Given the description of an element on the screen output the (x, y) to click on. 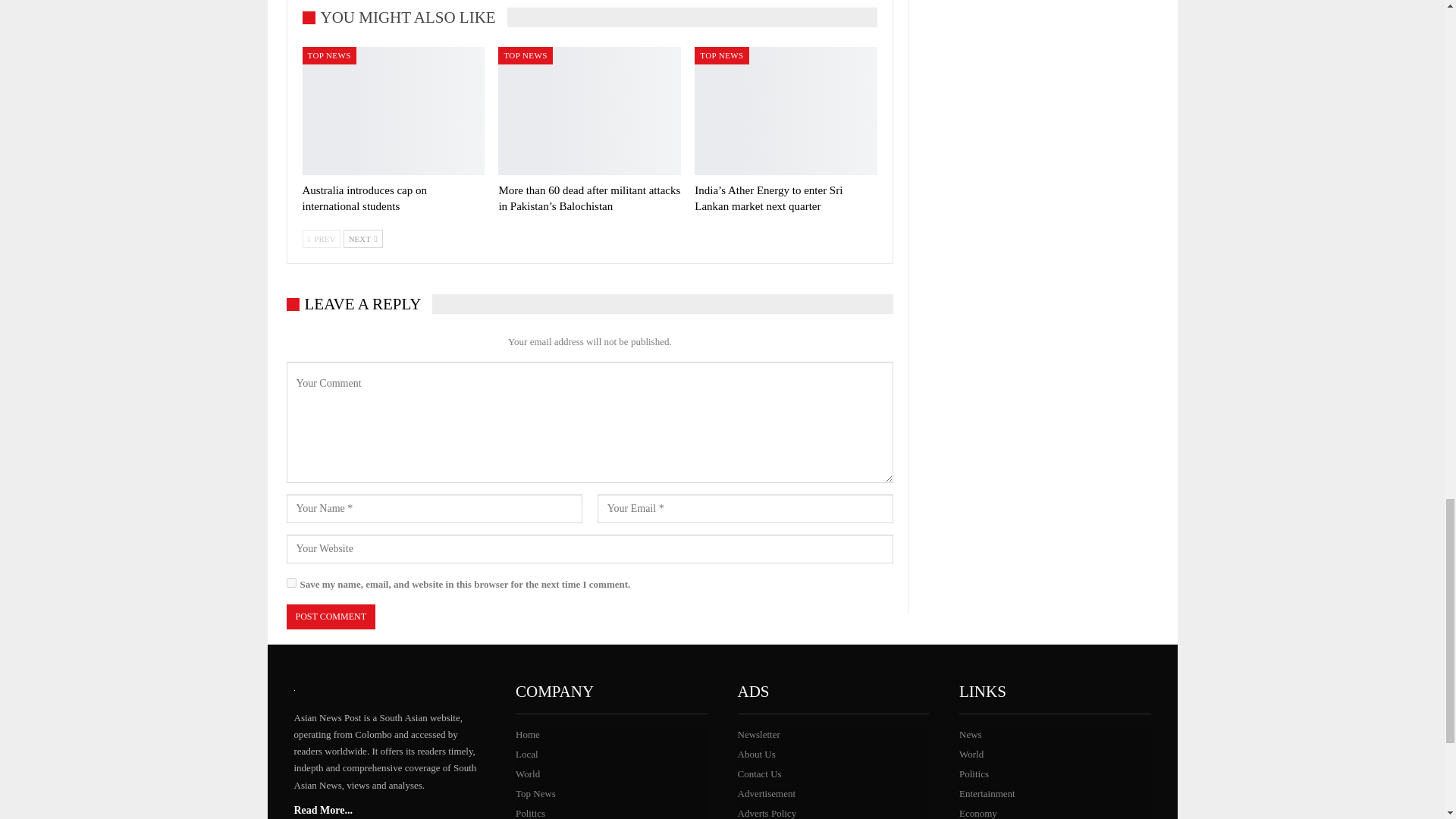
yes (291, 583)
Australia introduces cap on international students (363, 198)
Australia introduces cap on international students (392, 110)
Post Comment (330, 616)
